Given the description of an element on the screen output the (x, y) to click on. 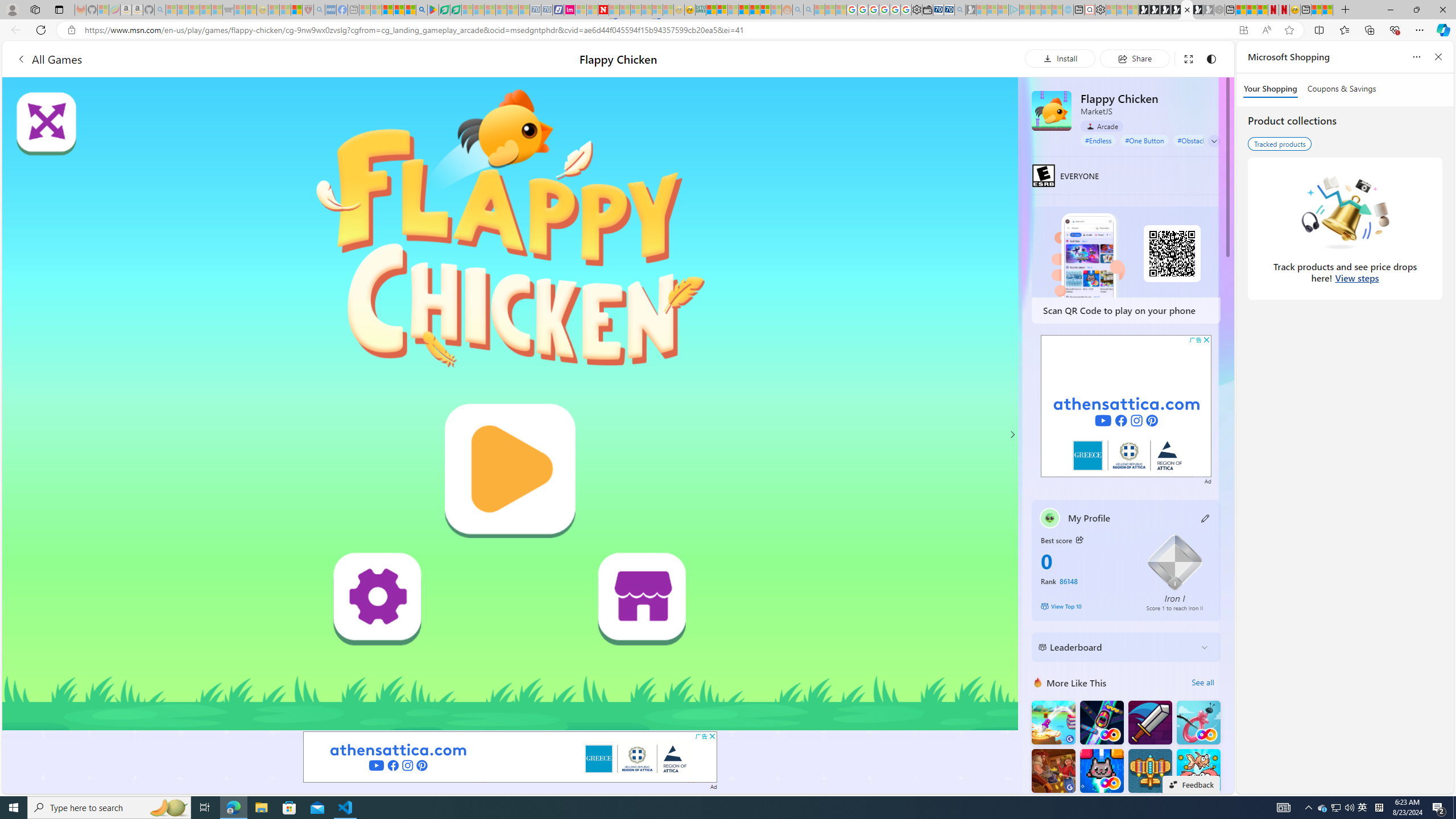
Arcade (1101, 125)
Arcade (1101, 126)
